Given the description of an element on the screen output the (x, y) to click on. 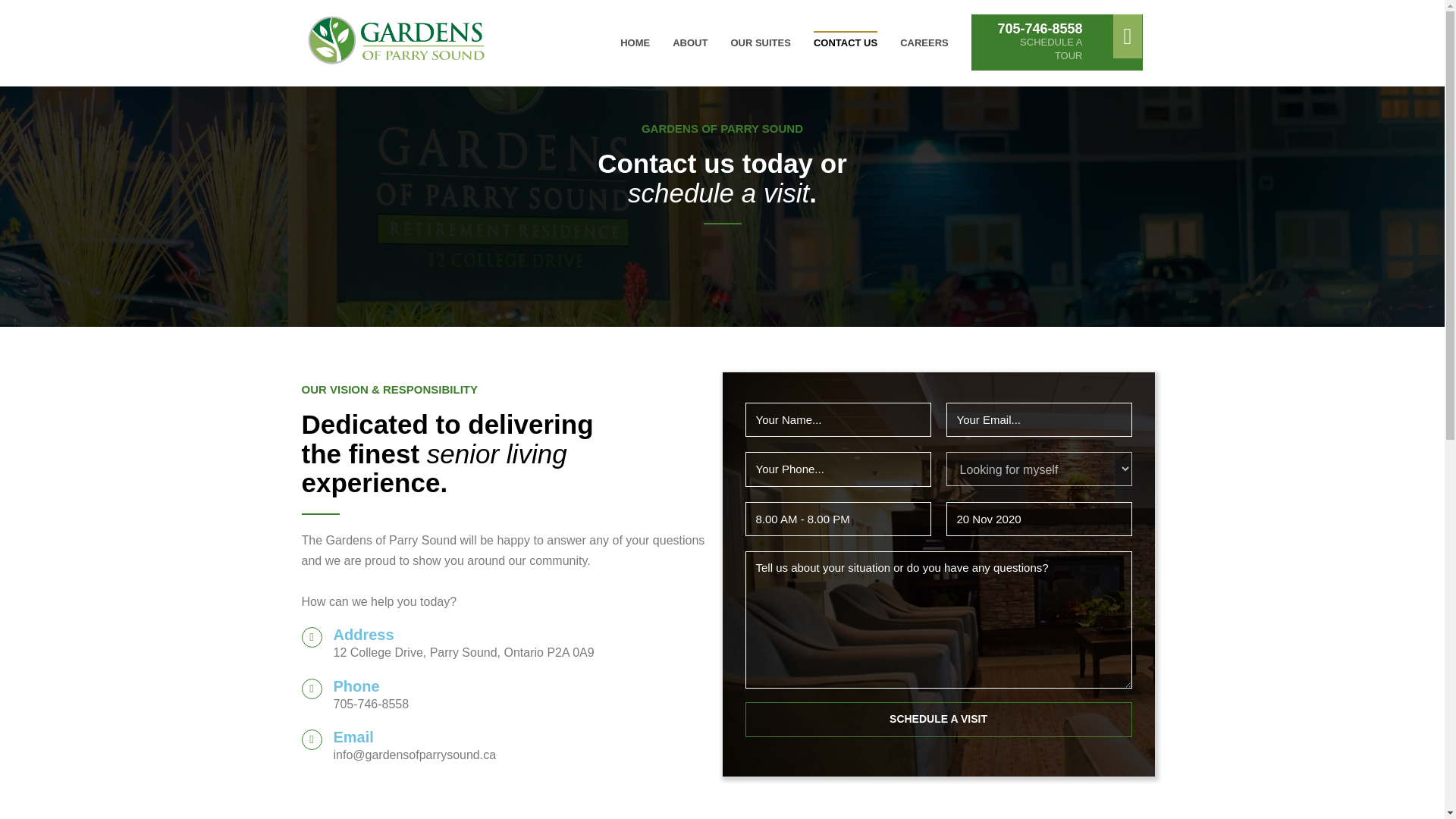
Schedule a Visit (937, 719)
Schedule a Visit (1056, 42)
HOME (937, 720)
CONTACT US (634, 42)
ABOUT (845, 42)
CAREERS (690, 42)
Email (923, 42)
OUR SUITES (353, 736)
